Given the description of an element on the screen output the (x, y) to click on. 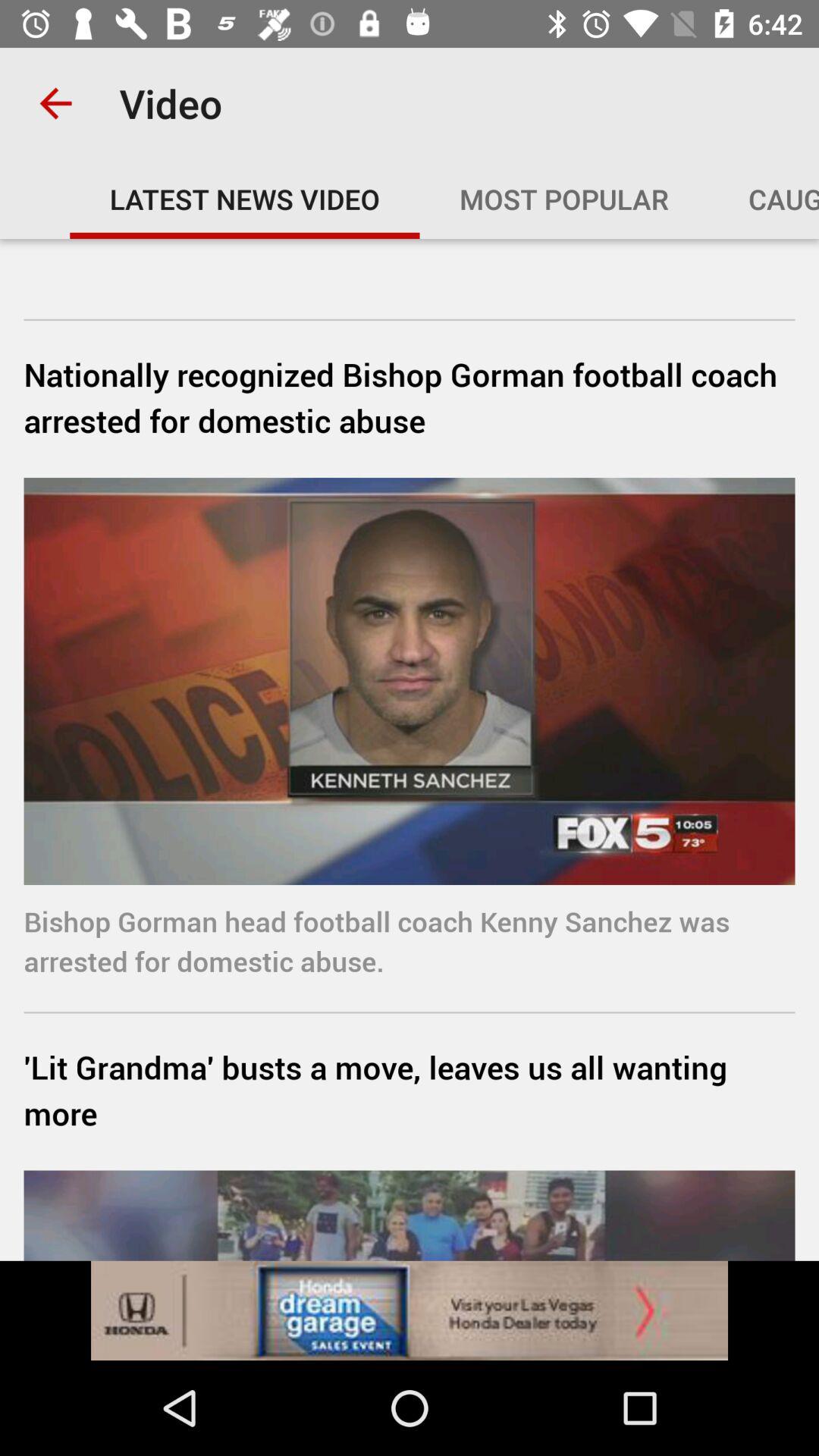
open advertisement (409, 1310)
